Given the description of an element on the screen output the (x, y) to click on. 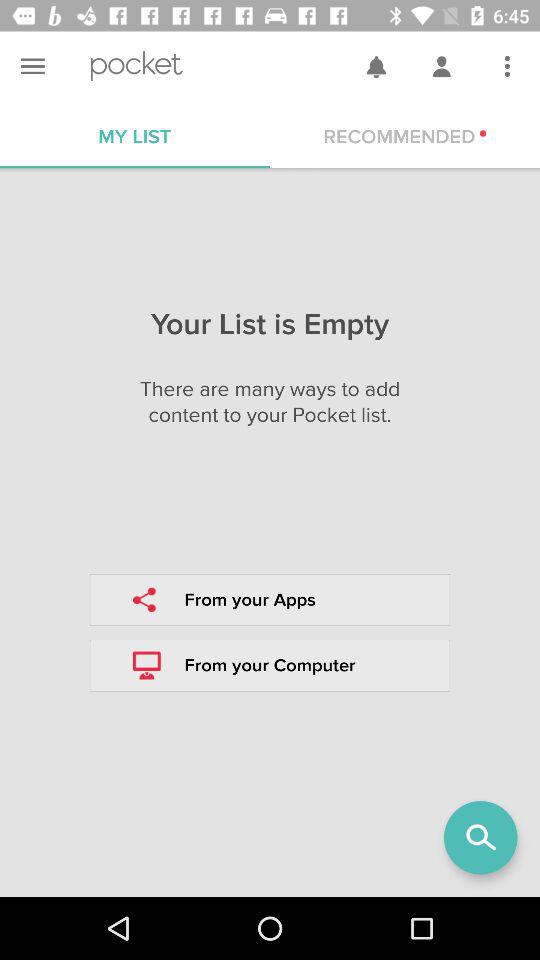
select symbol beside profile symbol (375, 65)
select the box which includes the symbol of desktop in it (269, 665)
click on contact icon which is beside bell icon (441, 65)
